Given the description of an element on the screen output the (x, y) to click on. 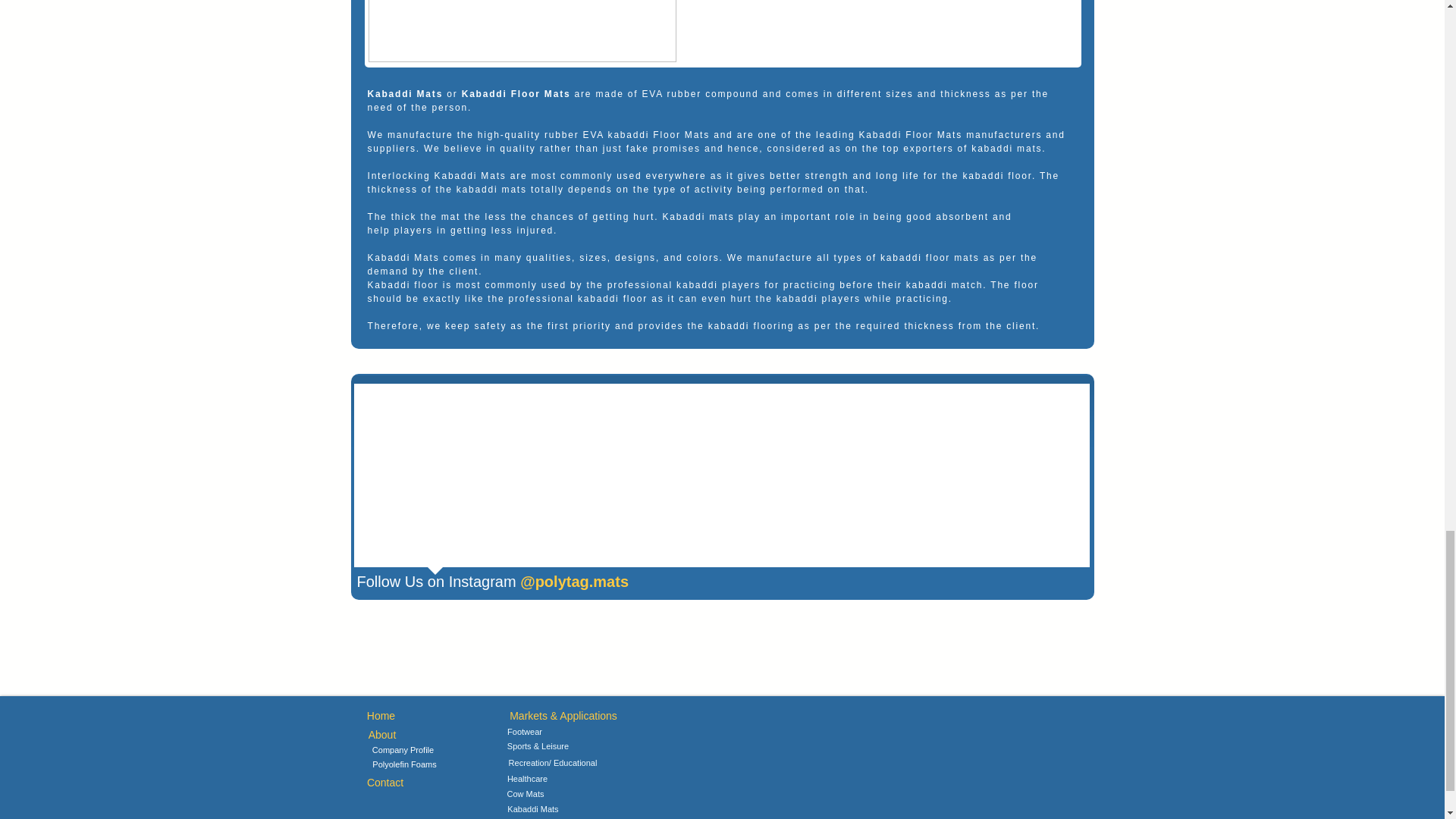
Home (380, 716)
Polyolefin Foams (403, 765)
Company Profile (402, 750)
Kabaddi Court.png (522, 31)
About (381, 734)
Contact (384, 782)
